Given the description of an element on the screen output the (x, y) to click on. 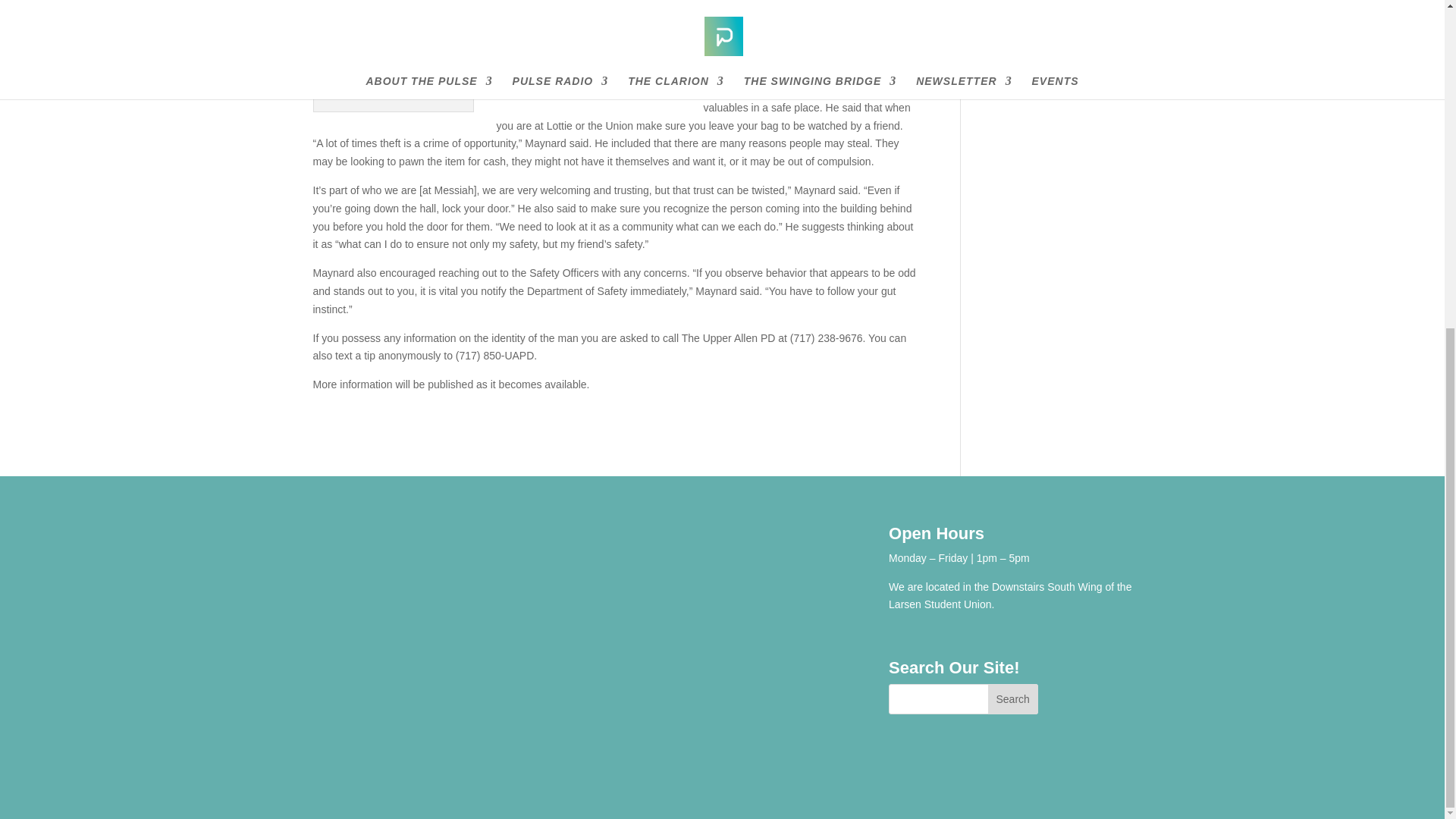
Search (1013, 698)
Search (1013, 698)
